Given the description of an element on the screen output the (x, y) to click on. 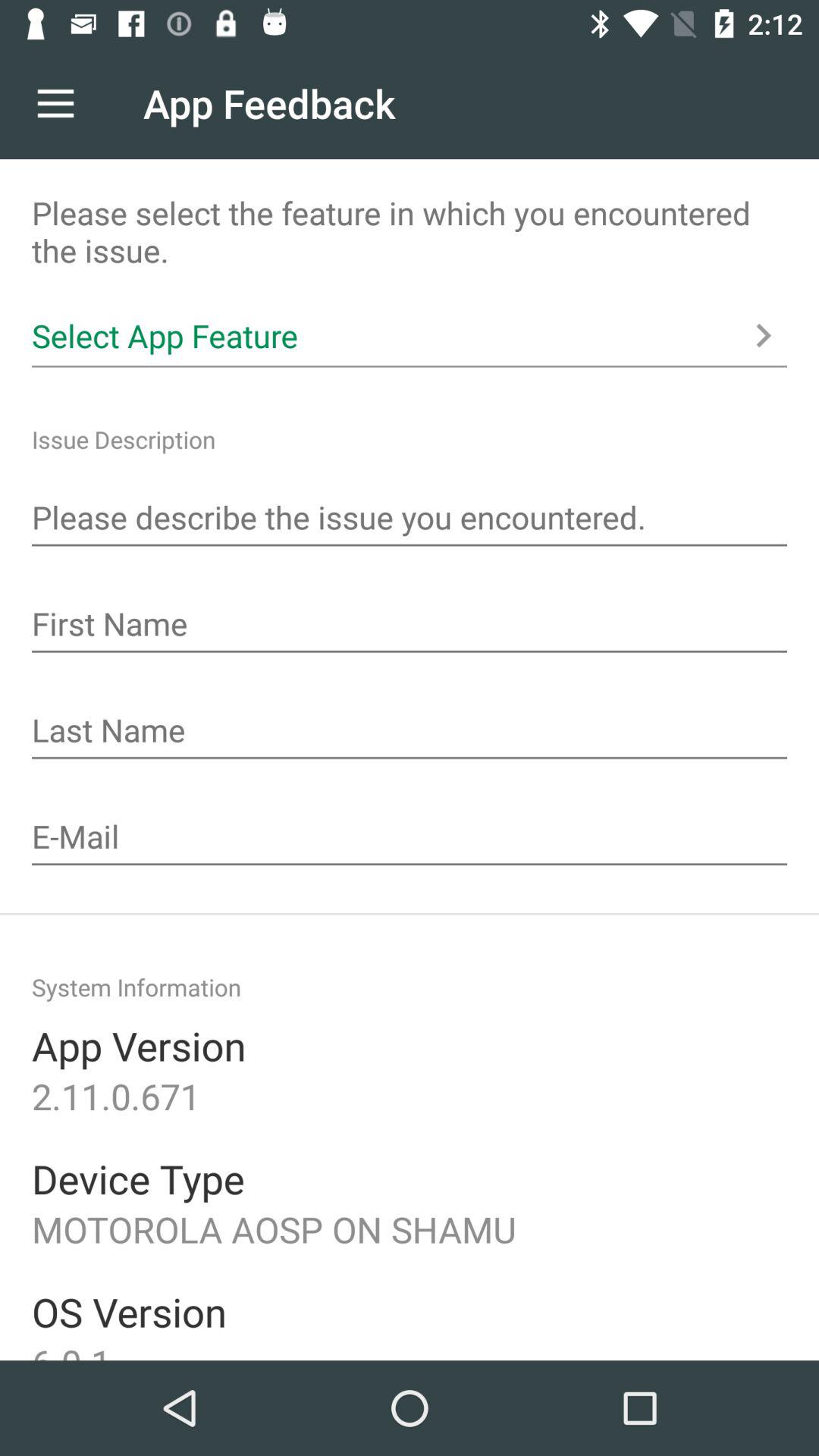
select the icon to the left of app feedback item (55, 103)
